Given the description of an element on the screen output the (x, y) to click on. 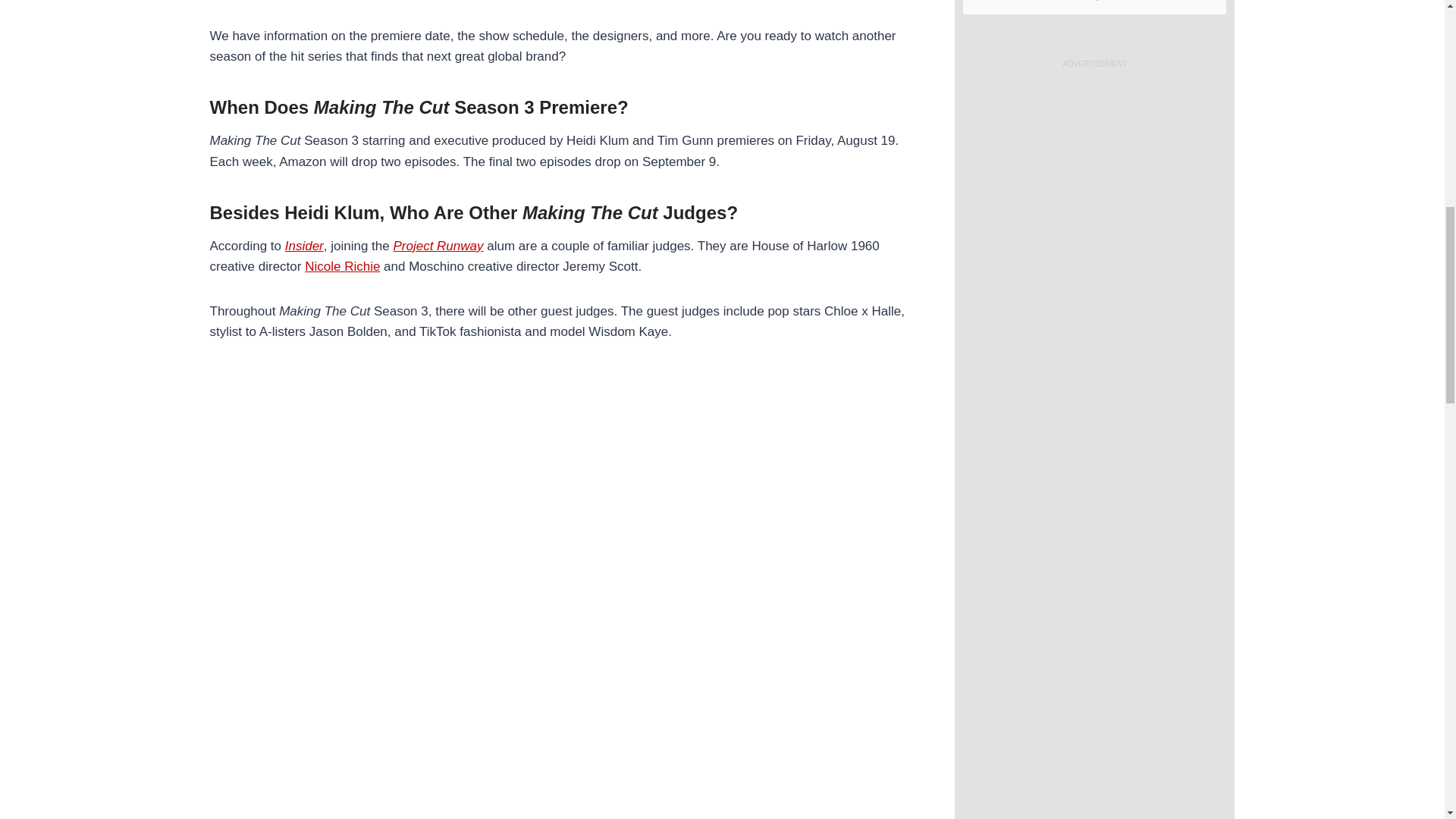
Insider (304, 246)
Nicole Richie (342, 266)
Project Runway (438, 246)
